Given the description of an element on the screen output the (x, y) to click on. 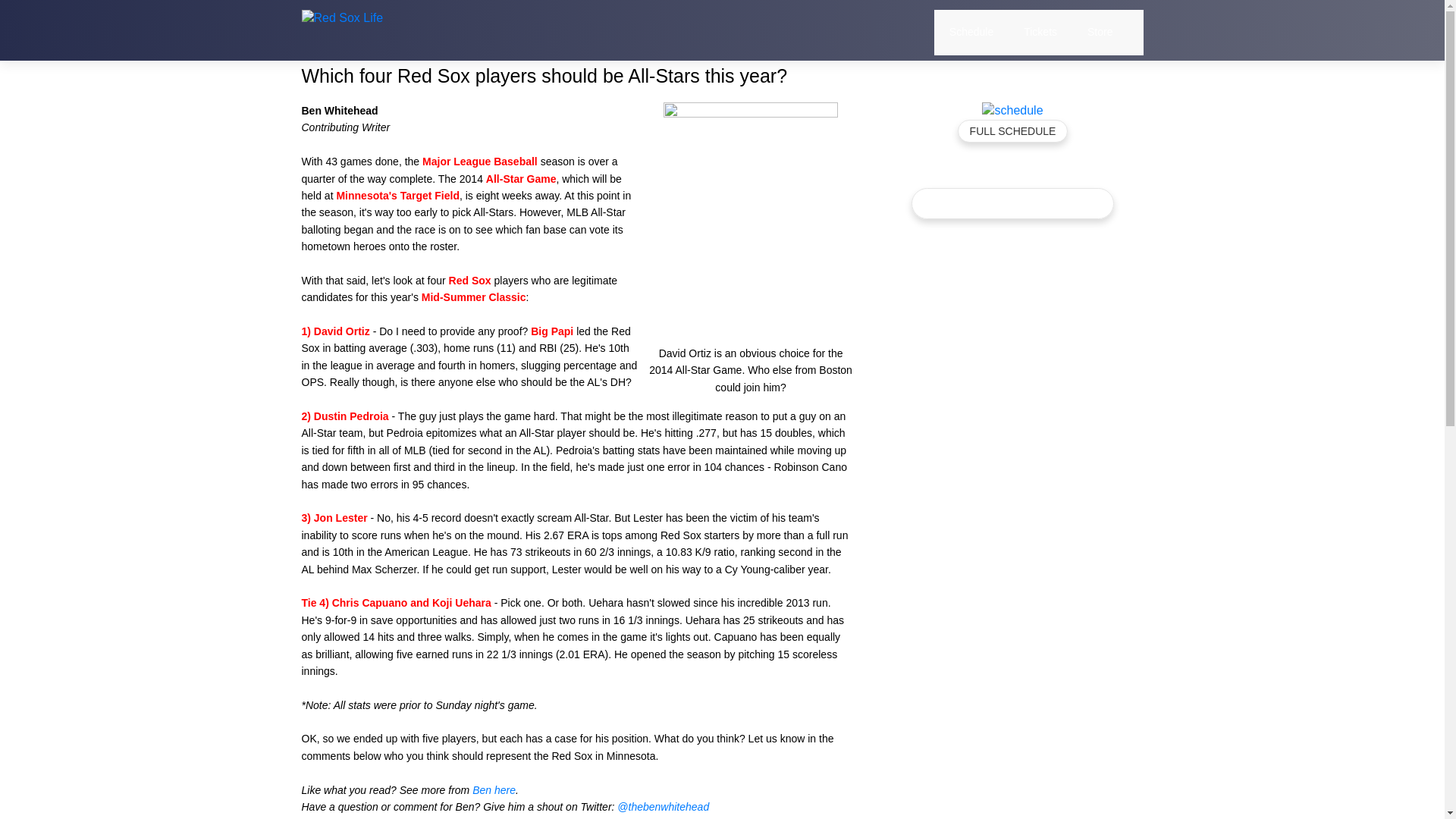
FULL SCHEDULE (1013, 130)
FOLLOW ON TWITTER  152,651 (1013, 203)
Schedule (970, 32)
Ben here (493, 789)
 FOLLOW ON TWITTER  152,651 (1012, 203)
